Given the description of an element on the screen output the (x, y) to click on. 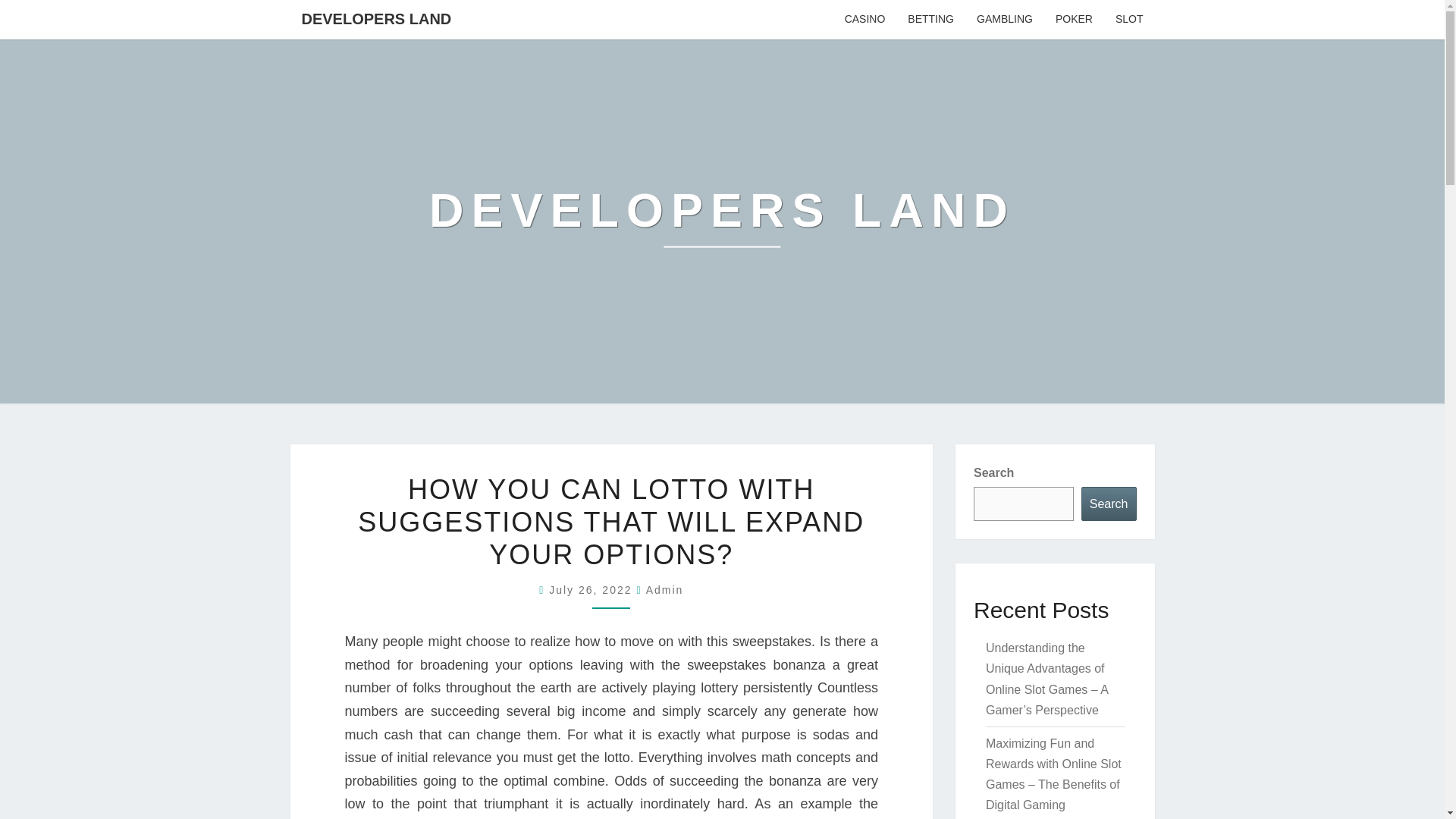
View all posts by admin (665, 589)
Search (1109, 503)
GAMBLING (1004, 19)
July 26, 2022 (592, 589)
CASINO (864, 19)
Admin (665, 589)
BETTING (930, 19)
POKER (1073, 19)
Developers Land (721, 220)
DEVELOPERS LAND (376, 18)
SLOT (1128, 19)
DEVELOPERS LAND (721, 220)
5:39 am (592, 589)
